Given the description of an element on the screen output the (x, y) to click on. 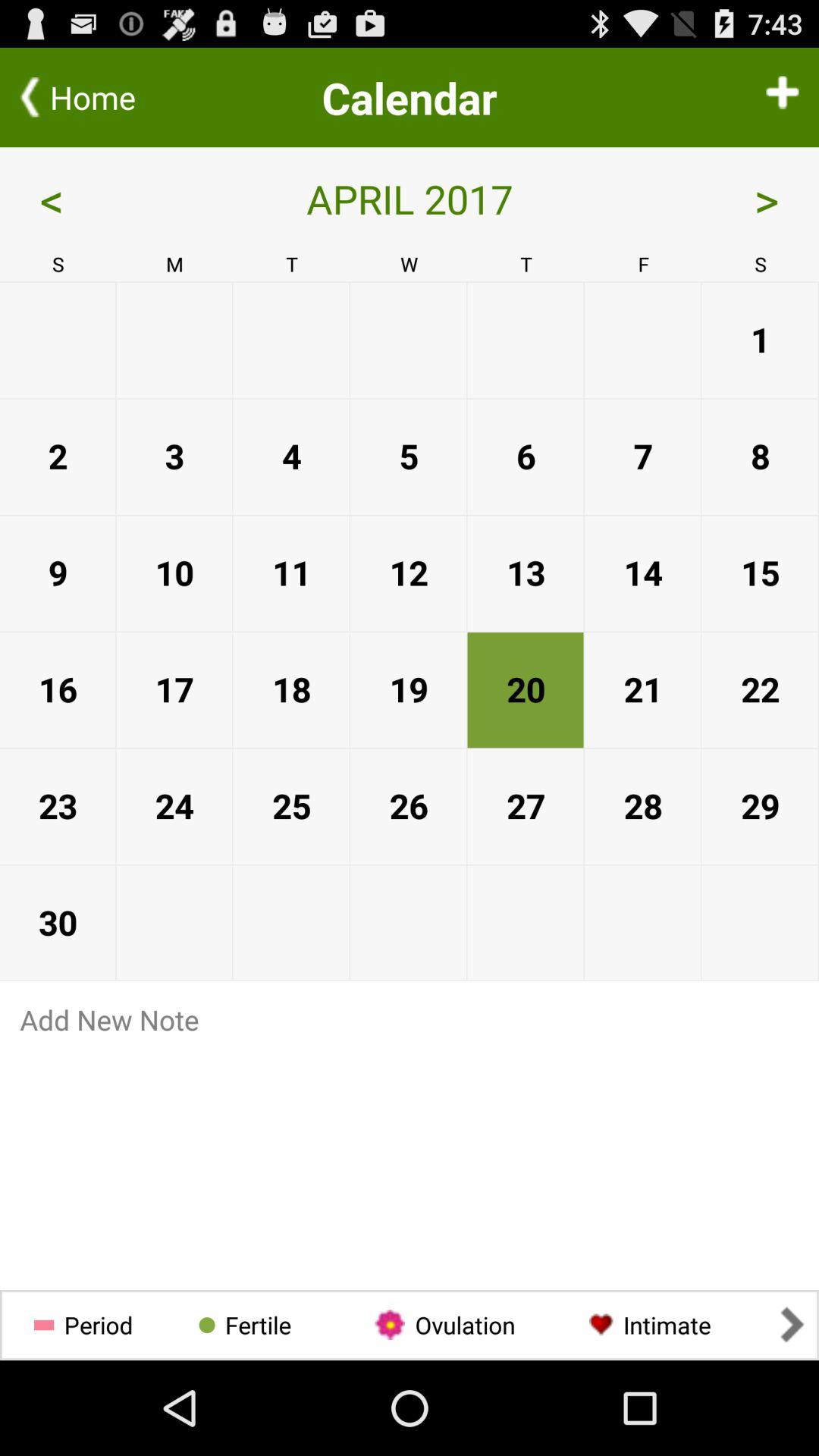
jump to the april 2017 (409, 198)
